Given the description of an element on the screen output the (x, y) to click on. 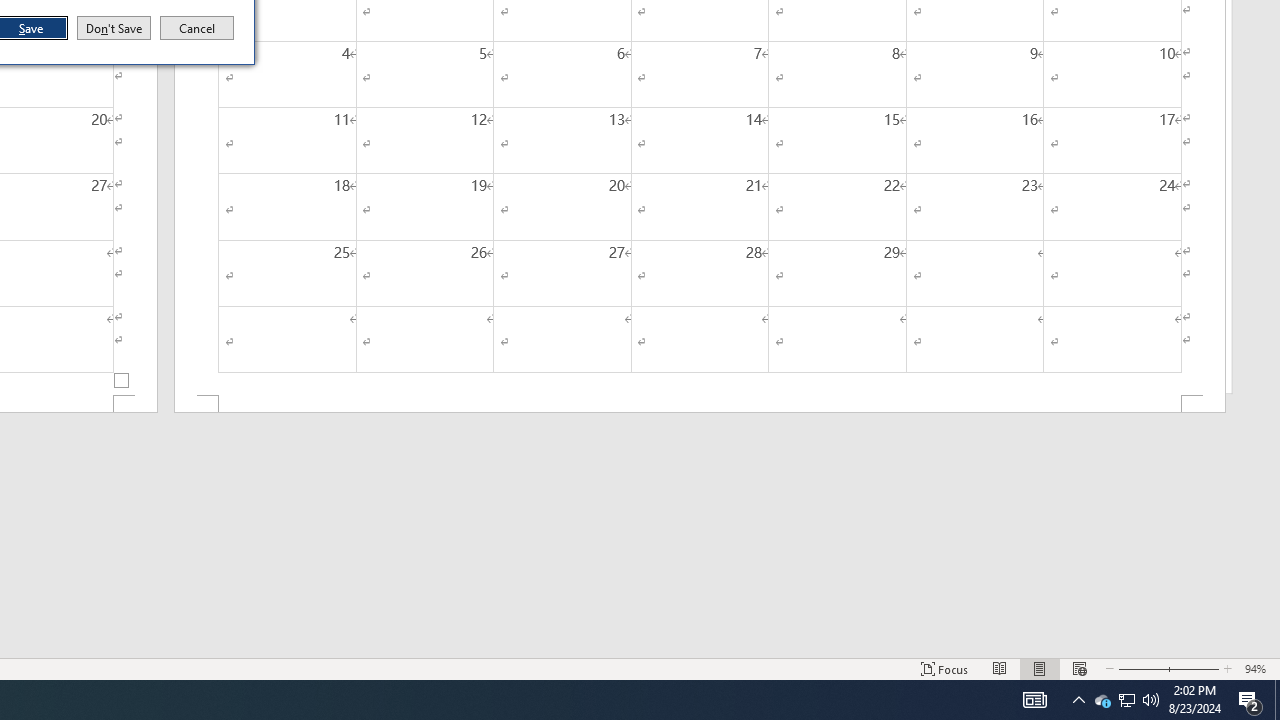
Action Center, 2 new notifications (1250, 699)
AutomationID: 4105 (1034, 699)
